Given the description of an element on the screen output the (x, y) to click on. 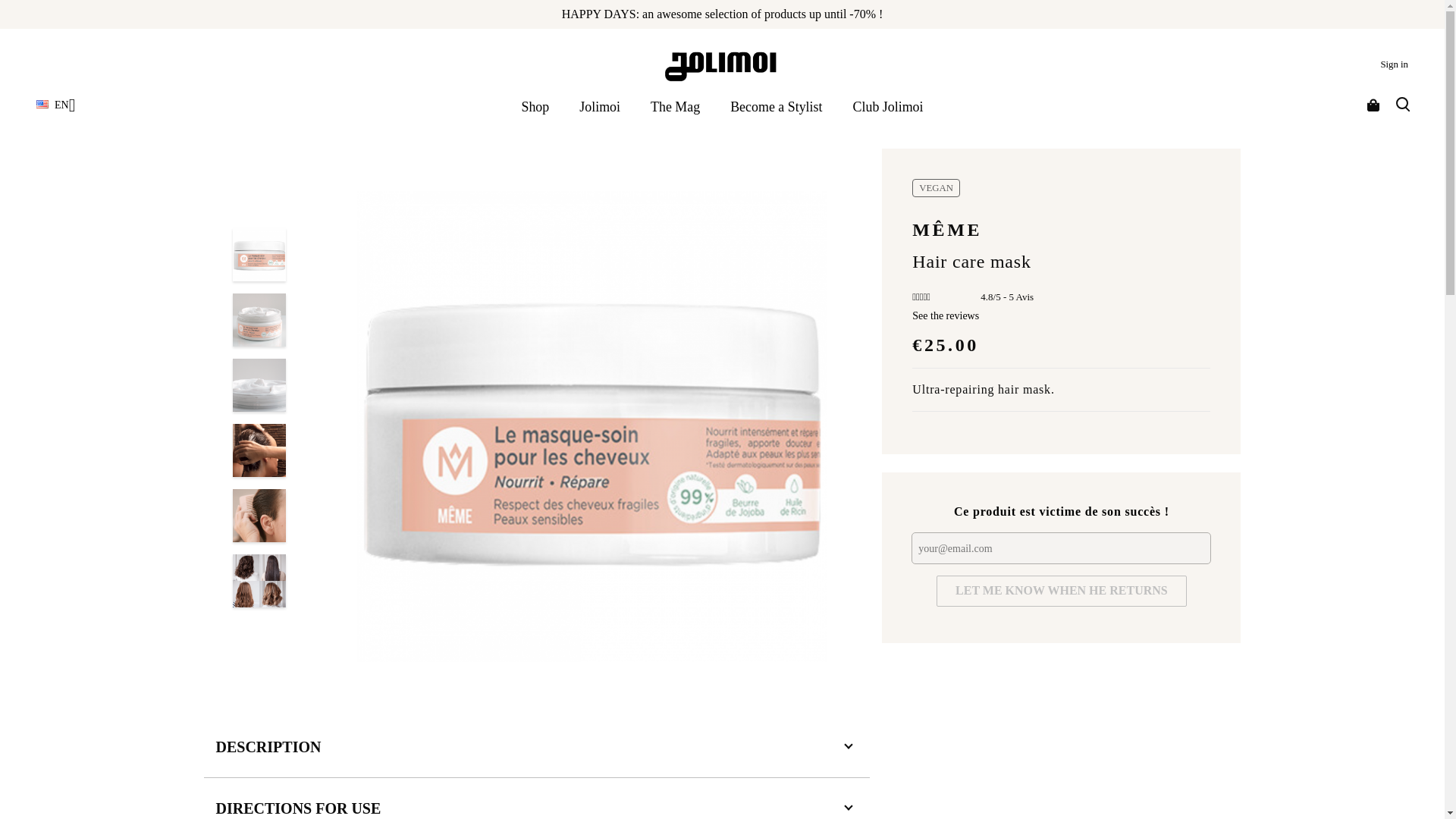
Shop (534, 106)
Log in to your customer account (1393, 64)
